Given the description of an element on the screen output the (x, y) to click on. 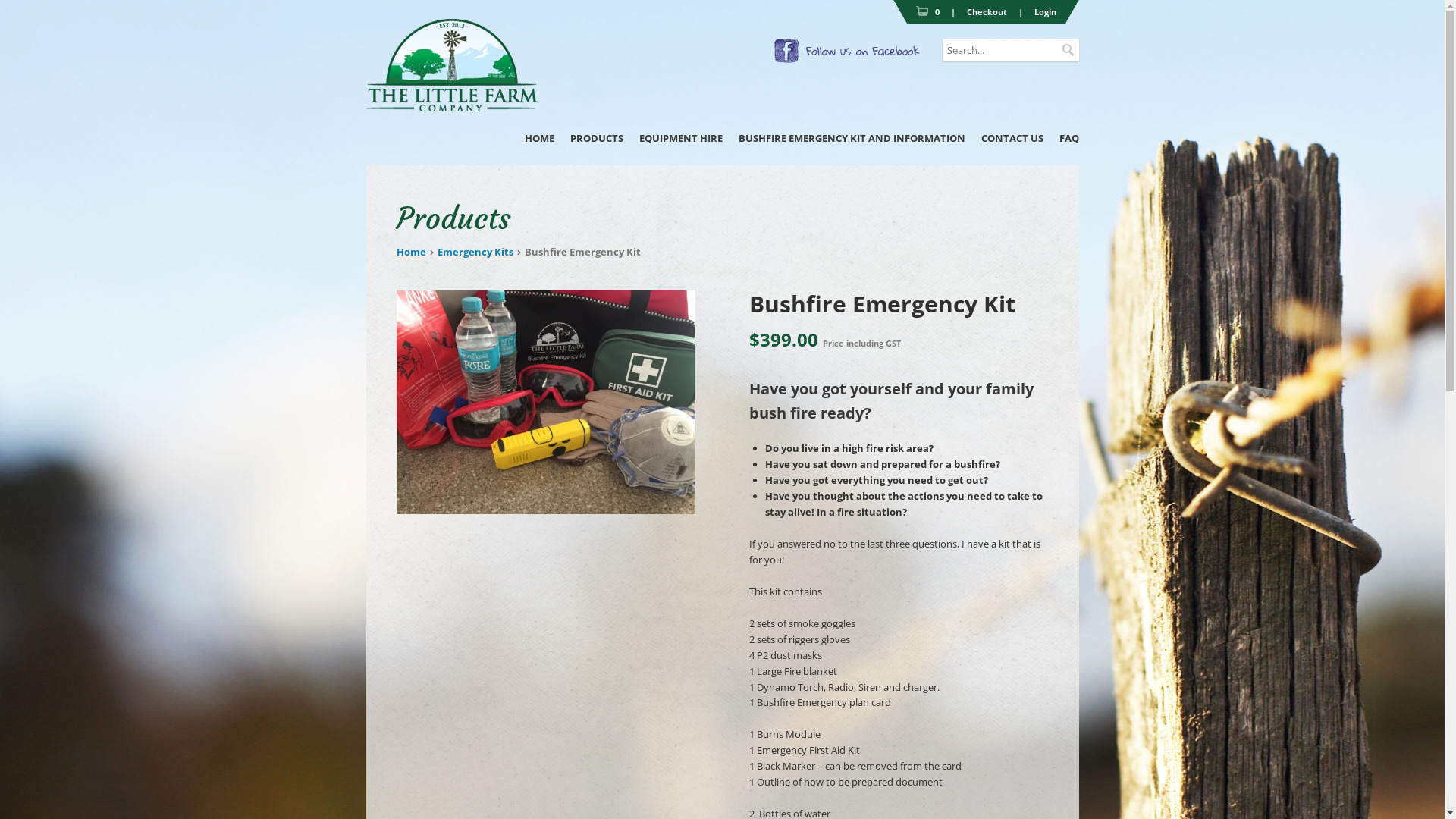
HOME Element type: text (539, 137)
FAQ Element type: text (1068, 137)
083E9197-78E3-4C1B-965E-E19F88458E2C Element type: hover (544, 402)
Login Element type: text (1045, 11)
Checkout Element type: text (986, 11)
CONTACT US Element type: text (1012, 137)
BUSHFIRE EMERGENCY KIT AND INFORMATION Element type: text (851, 137)
PRODUCTS Element type: text (596, 137)
Emergency Kits Element type: text (474, 251)
EQUIPMENT HIRE Element type: text (679, 137)
Home Element type: text (410, 251)
